Given the description of an element on the screen output the (x, y) to click on. 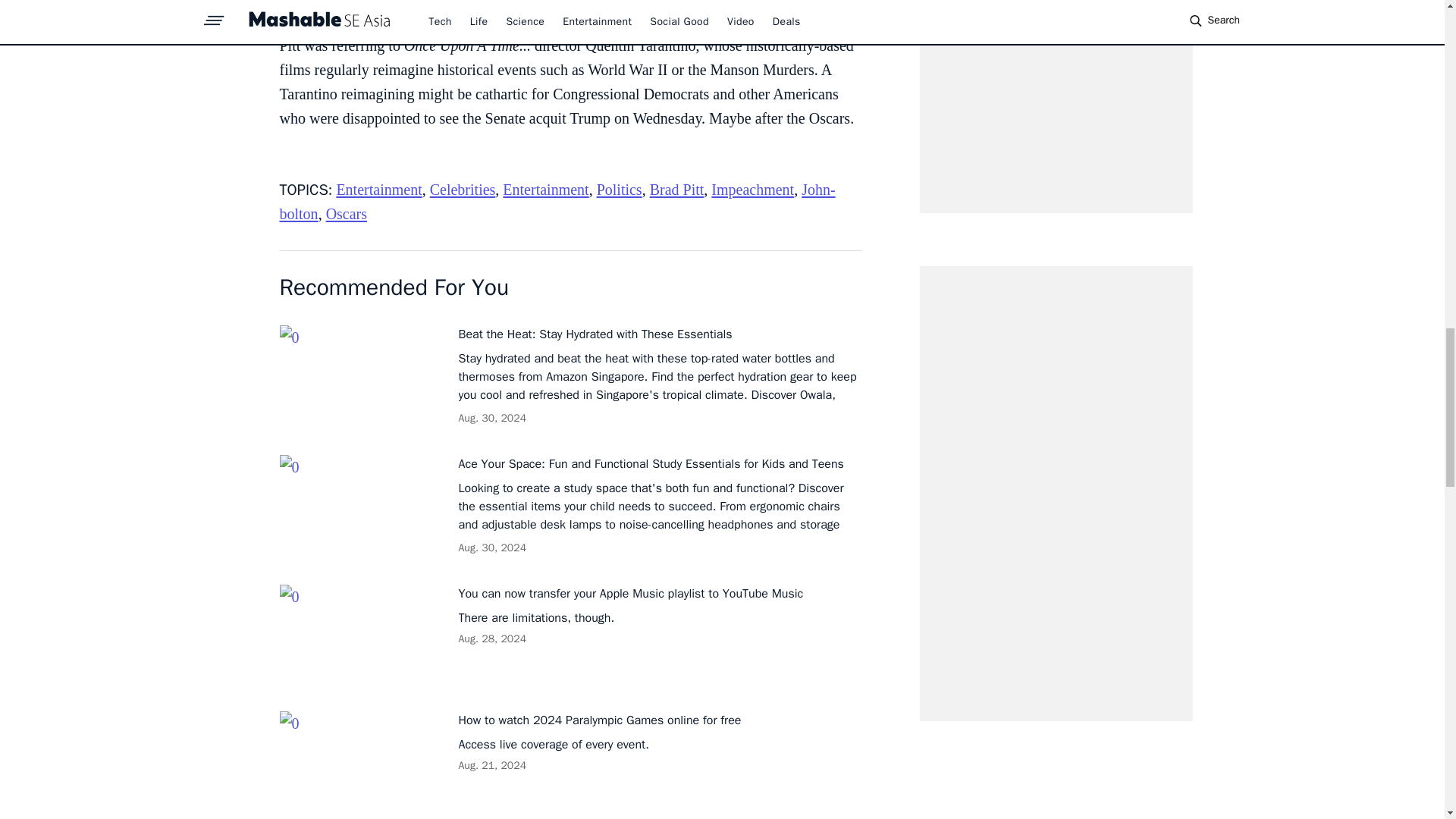
Celebrities (462, 189)
Impeachment (752, 189)
Entertainment (379, 189)
Oscars (346, 213)
Brad Pitt (676, 189)
Entertainment (545, 189)
John-bolton (556, 200)
